Given the description of an element on the screen output the (x, y) to click on. 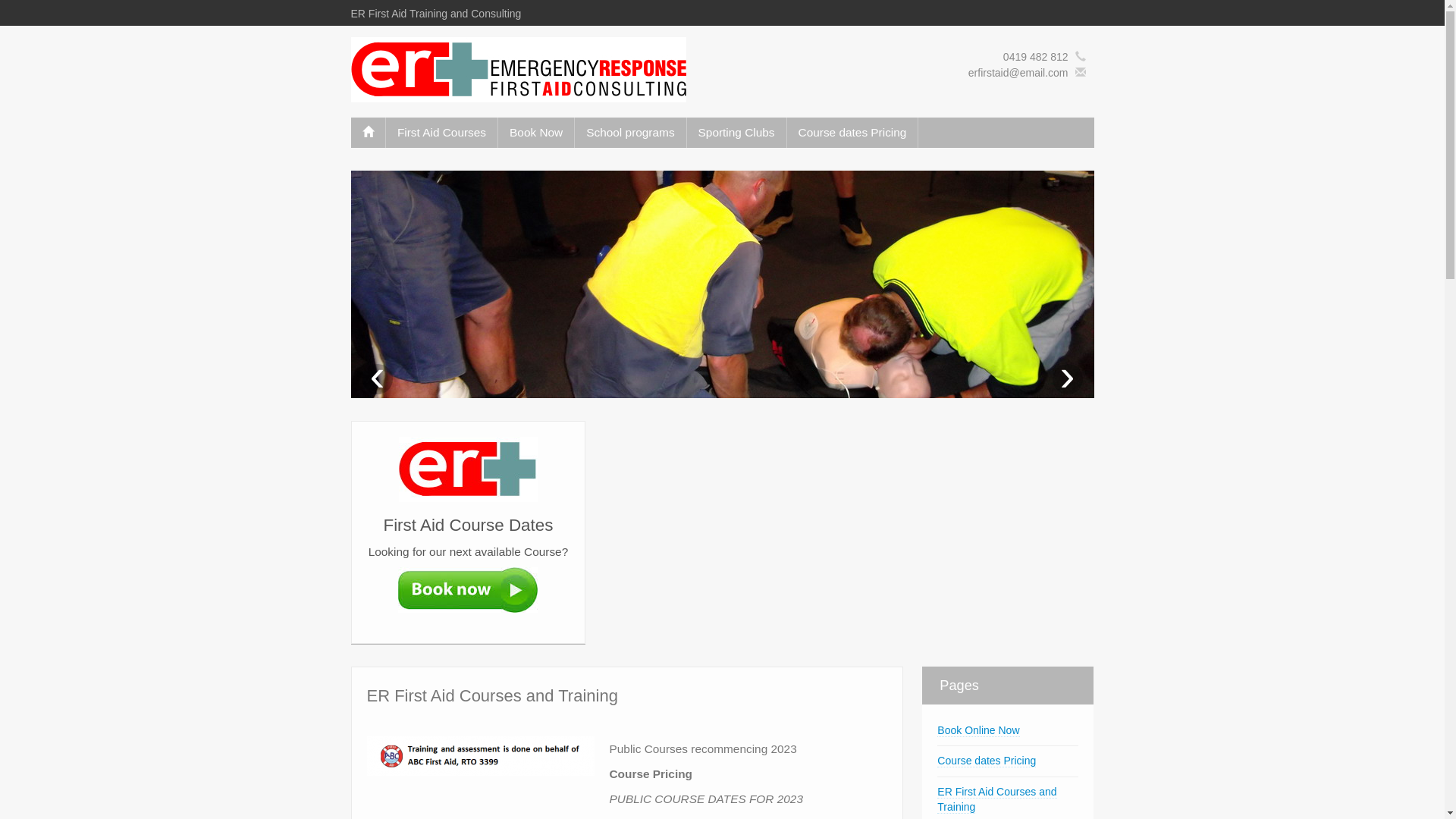
Sporting Clubs Element type: text (736, 132)
ER First Aid Courses and Training Element type: text (996, 799)
Course dates Pricing Element type: text (986, 760)
Course dates Pricing Element type: text (852, 132)
ER First Aid Courses Sunshine Coast Element type: hover (517, 68)
School programs Element type: text (629, 132)
Book Now Element type: text (536, 132)
Book Online Now Element type: text (978, 730)
First Aid Courses Element type: text (441, 132)
